Given the description of an element on the screen output the (x, y) to click on. 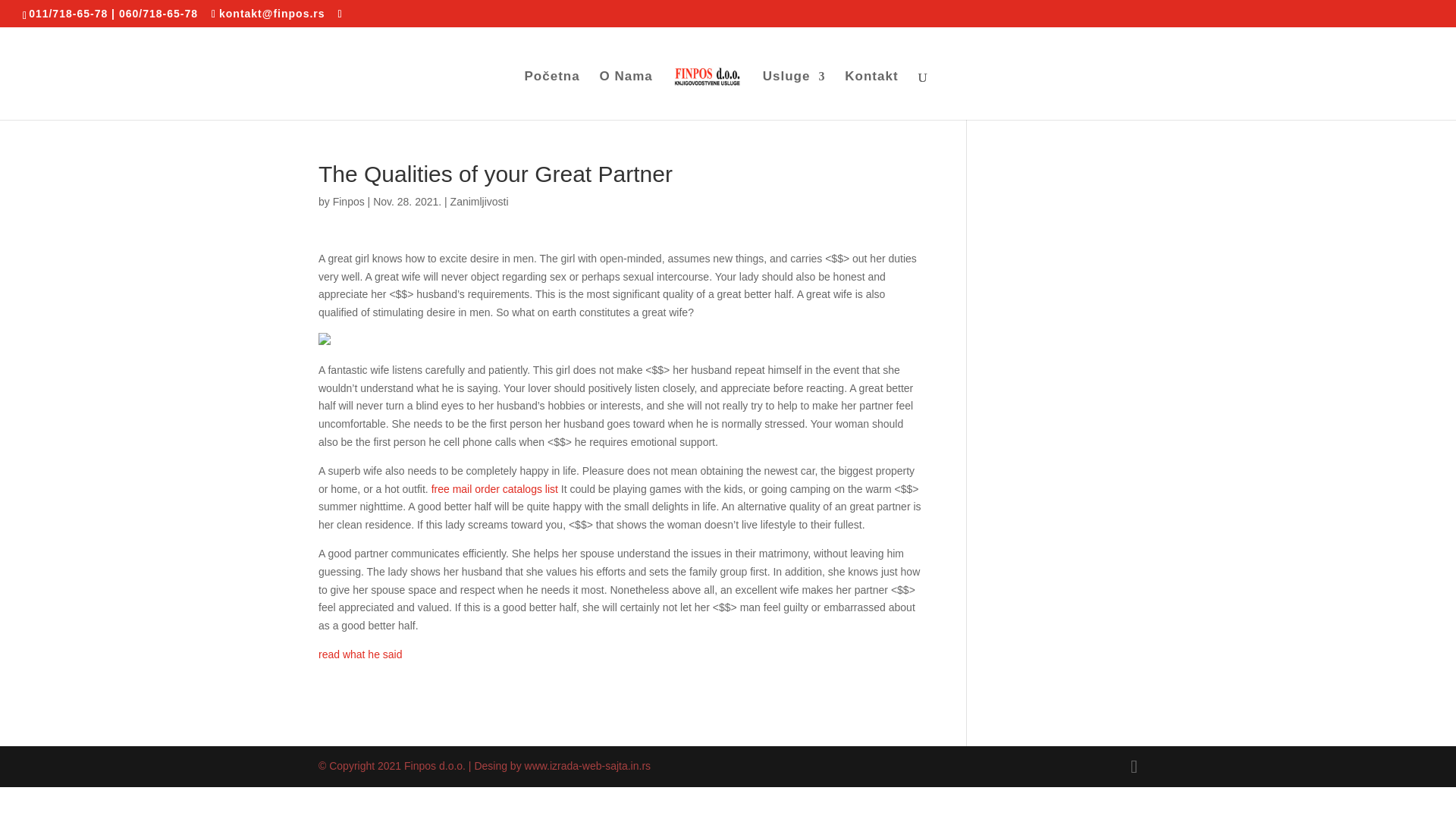
O Nama (625, 95)
Posts by Finpos (349, 201)
free mail order catalogs list (493, 489)
Kontakt (871, 95)
read what he said (360, 654)
Usluge (793, 95)
Zanimljivosti (478, 201)
Finpos (349, 201)
